Given the description of an element on the screen output the (x, y) to click on. 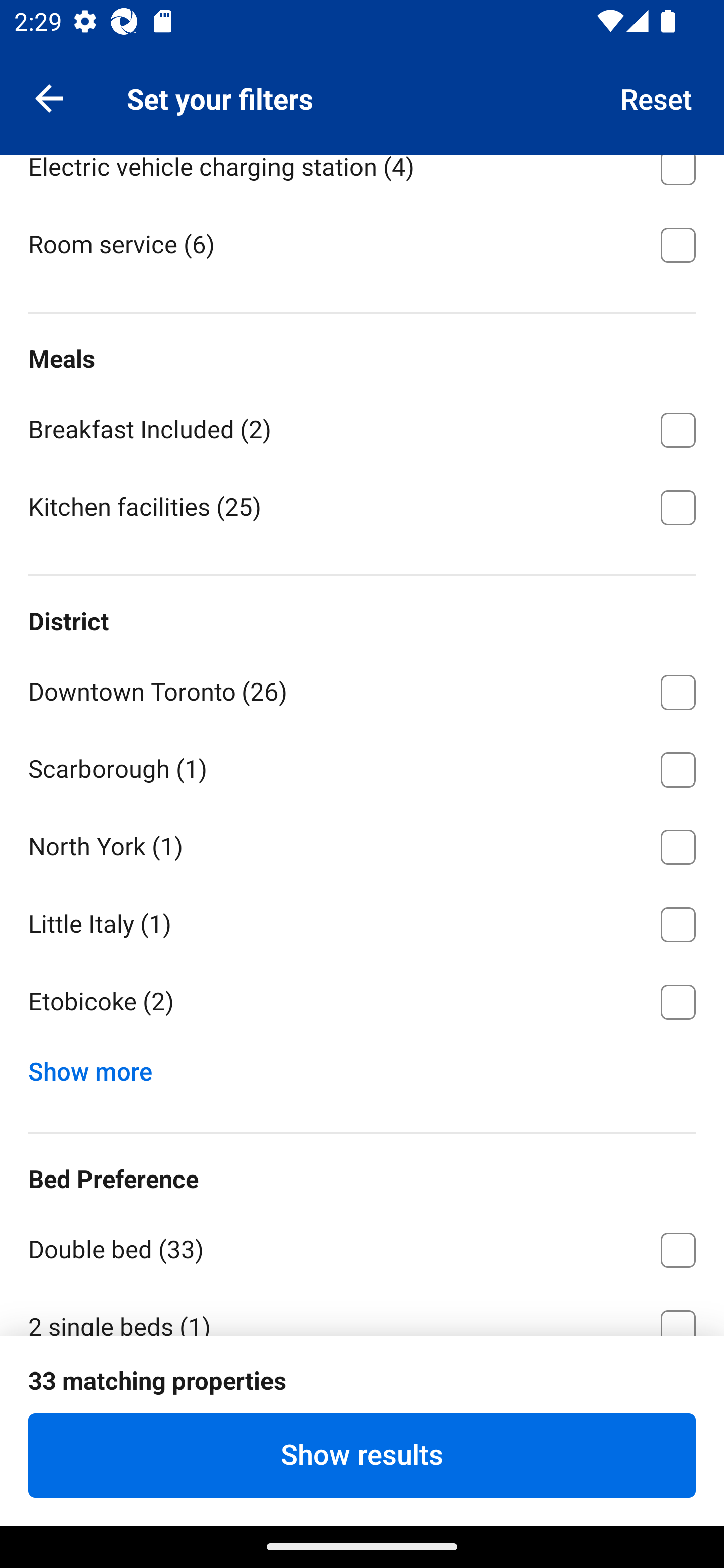
BBQ facilities ⁦(2) (361, 86)
Navigate up (49, 97)
Reset (656, 97)
Electric vehicle charging station ⁦(4) (361, 178)
Room service ⁦(6) (361, 242)
Breakfast Included ⁦(2) (361, 426)
Kitchen facilities ⁦(25) (361, 505)
Downtown Toronto ⁦(26) (361, 688)
Scarborough ⁦(1) (361, 765)
North York ⁦(1) (361, 843)
Little Italy ⁦(1) (361, 920)
Etobicoke ⁦(2) (361, 1001)
Show more (97, 1066)
Double bed ⁦(33) (361, 1246)
2 single beds ⁦(1) (361, 1310)
Show results (361, 1454)
